Given the description of an element on the screen output the (x, y) to click on. 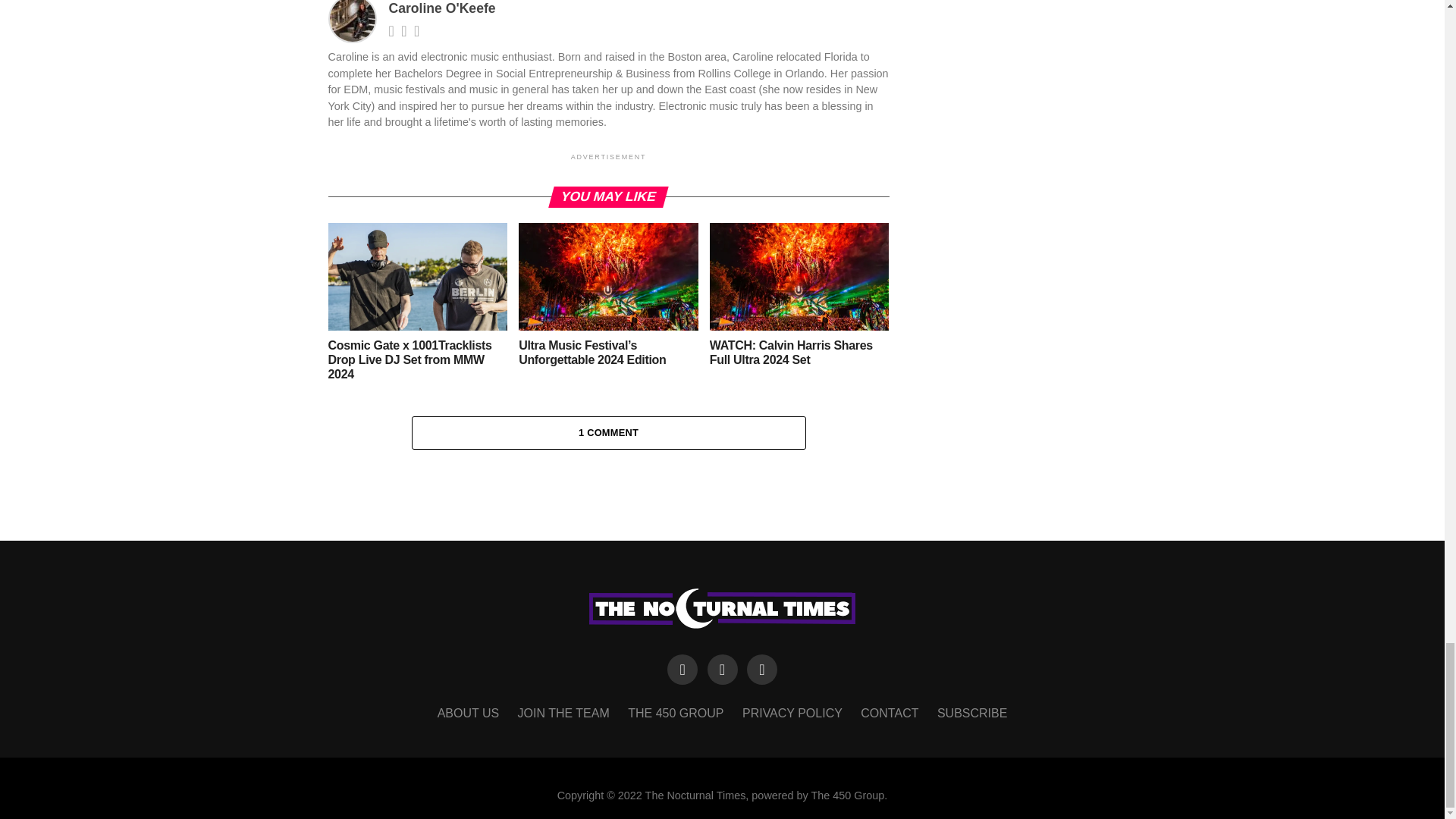
Posts by Caroline O'Keefe (441, 7)
